Given the description of an element on the screen output the (x, y) to click on. 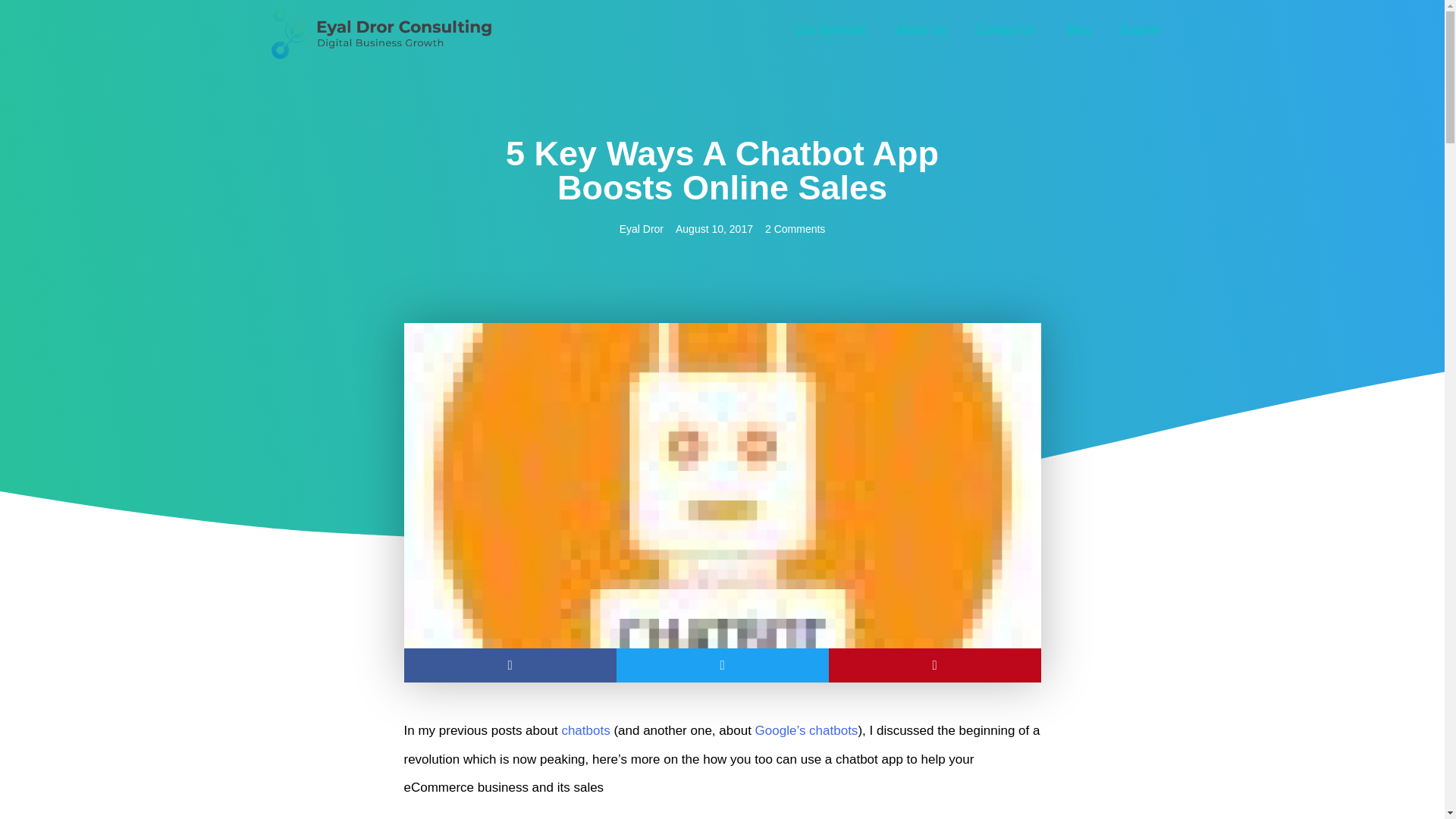
About Us (920, 30)
English (1141, 30)
English (1141, 30)
Contact Us (1005, 30)
Blog (1078, 30)
Blog (1078, 30)
Contact Us (1005, 30)
Our Services (830, 30)
